Given the description of an element on the screen output the (x, y) to click on. 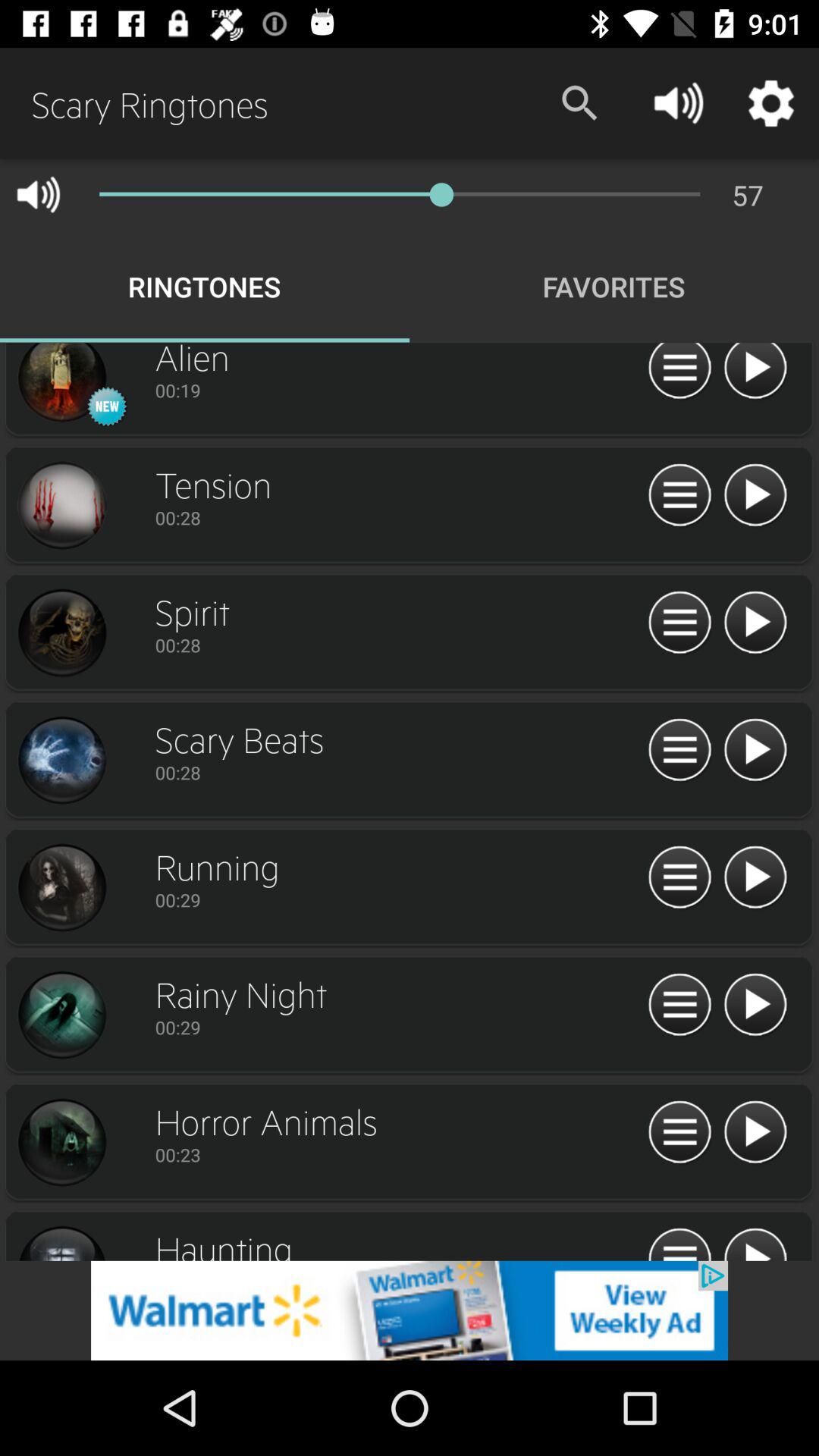
play song (755, 877)
